Given the description of an element on the screen output the (x, y) to click on. 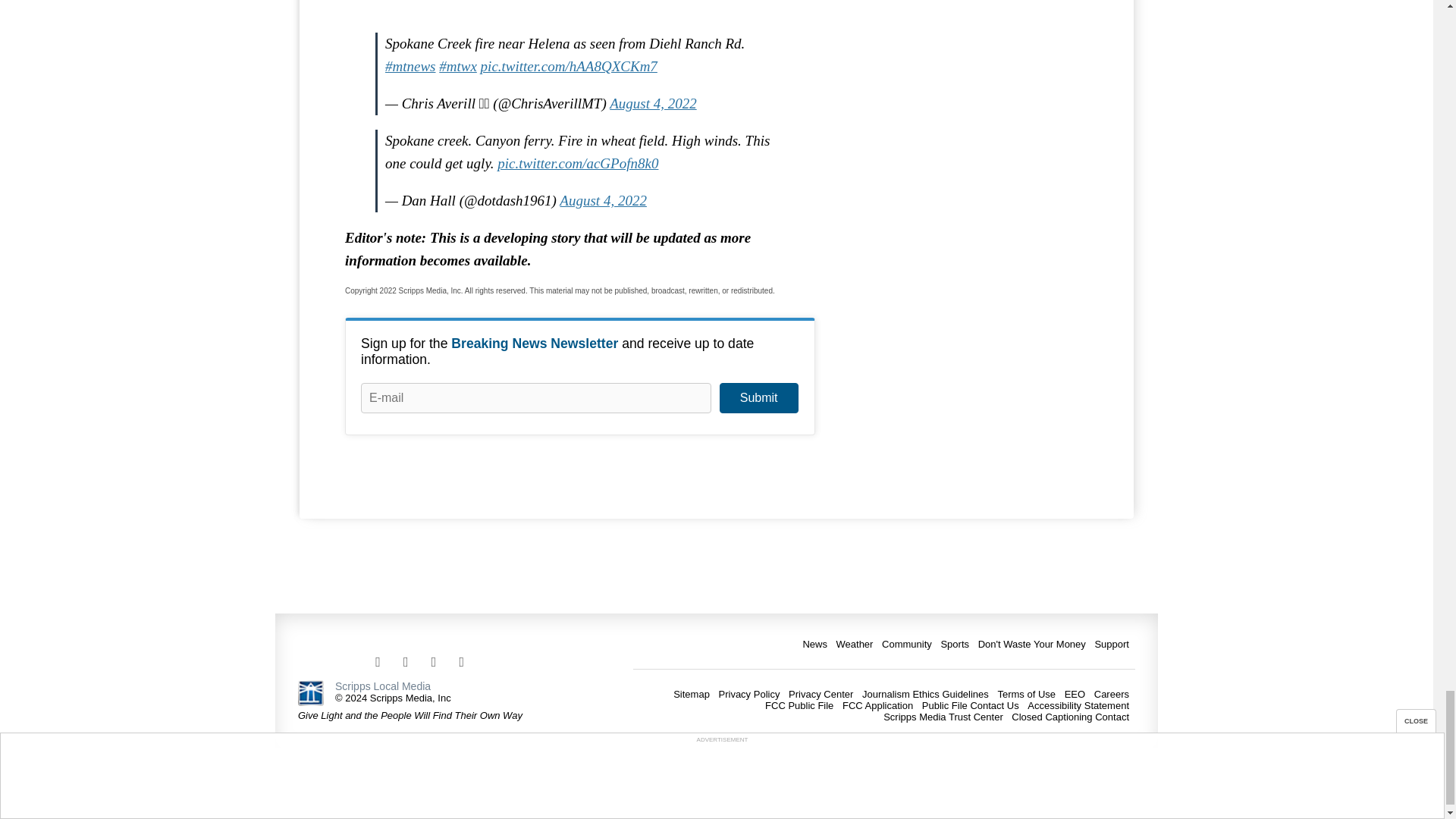
Submit (758, 398)
